Given the description of an element on the screen output the (x, y) to click on. 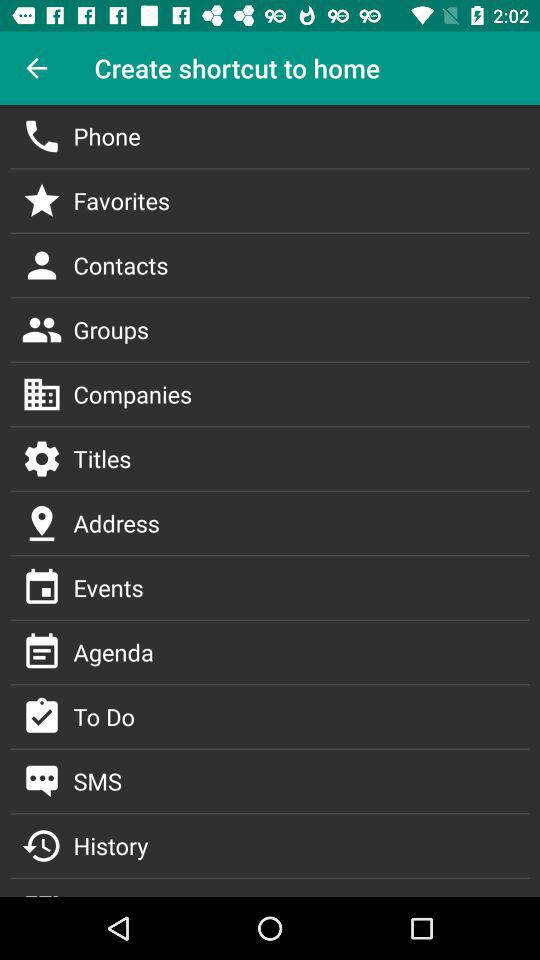
click on contacts icon (41, 265)
select the address icon (41, 522)
